Given the description of an element on the screen output the (x, y) to click on. 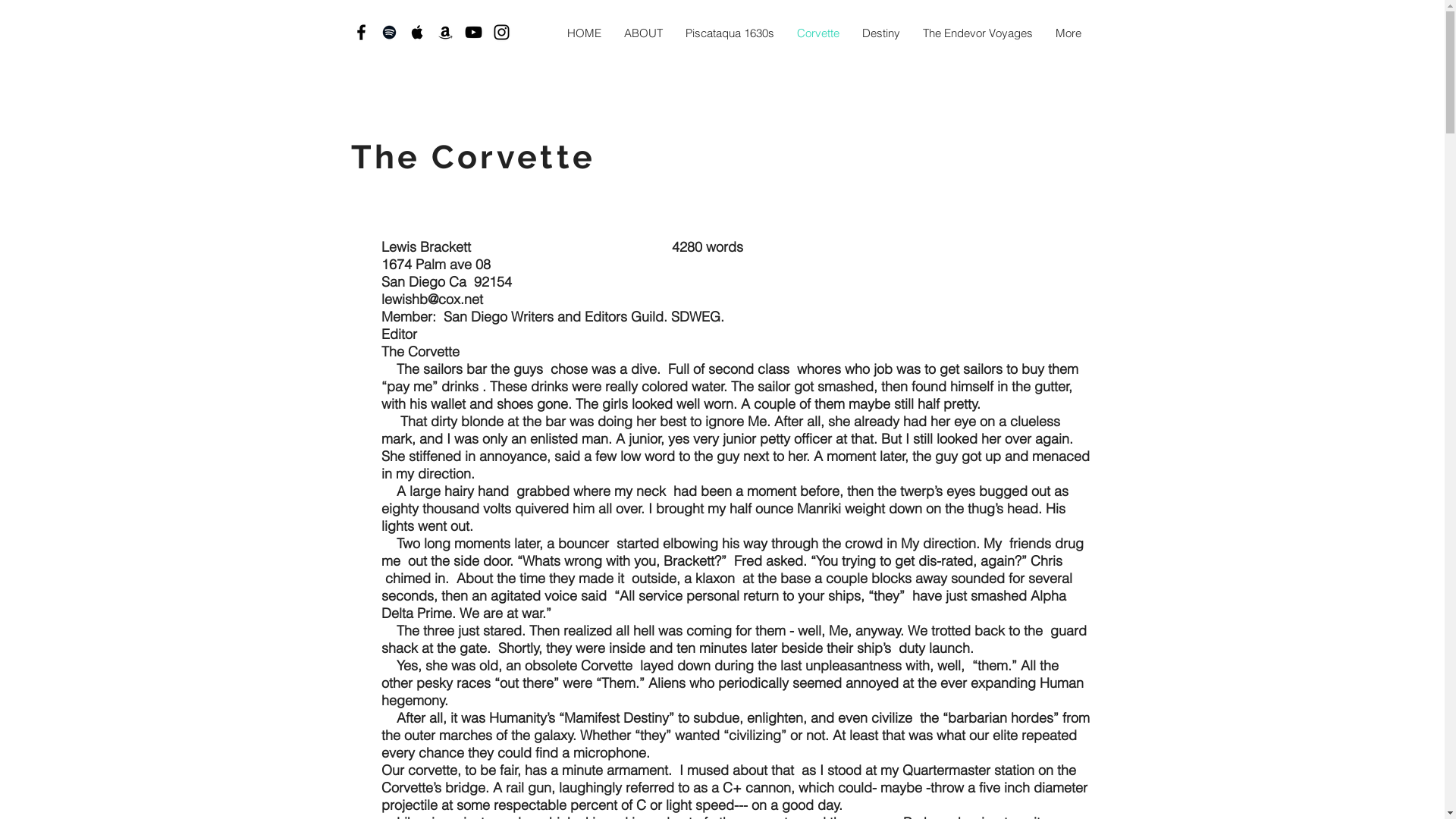
The Endevor Voyages Element type: text (977, 32)
HOME Element type: text (583, 32)
Piscataqua 1630s Element type: text (728, 32)
Corvette Element type: text (817, 32)
ABOUT Element type: text (643, 32)
lewishb@cox.net Element type: text (431, 298)
Destiny Element type: text (880, 32)
